Given the description of an element on the screen output the (x, y) to click on. 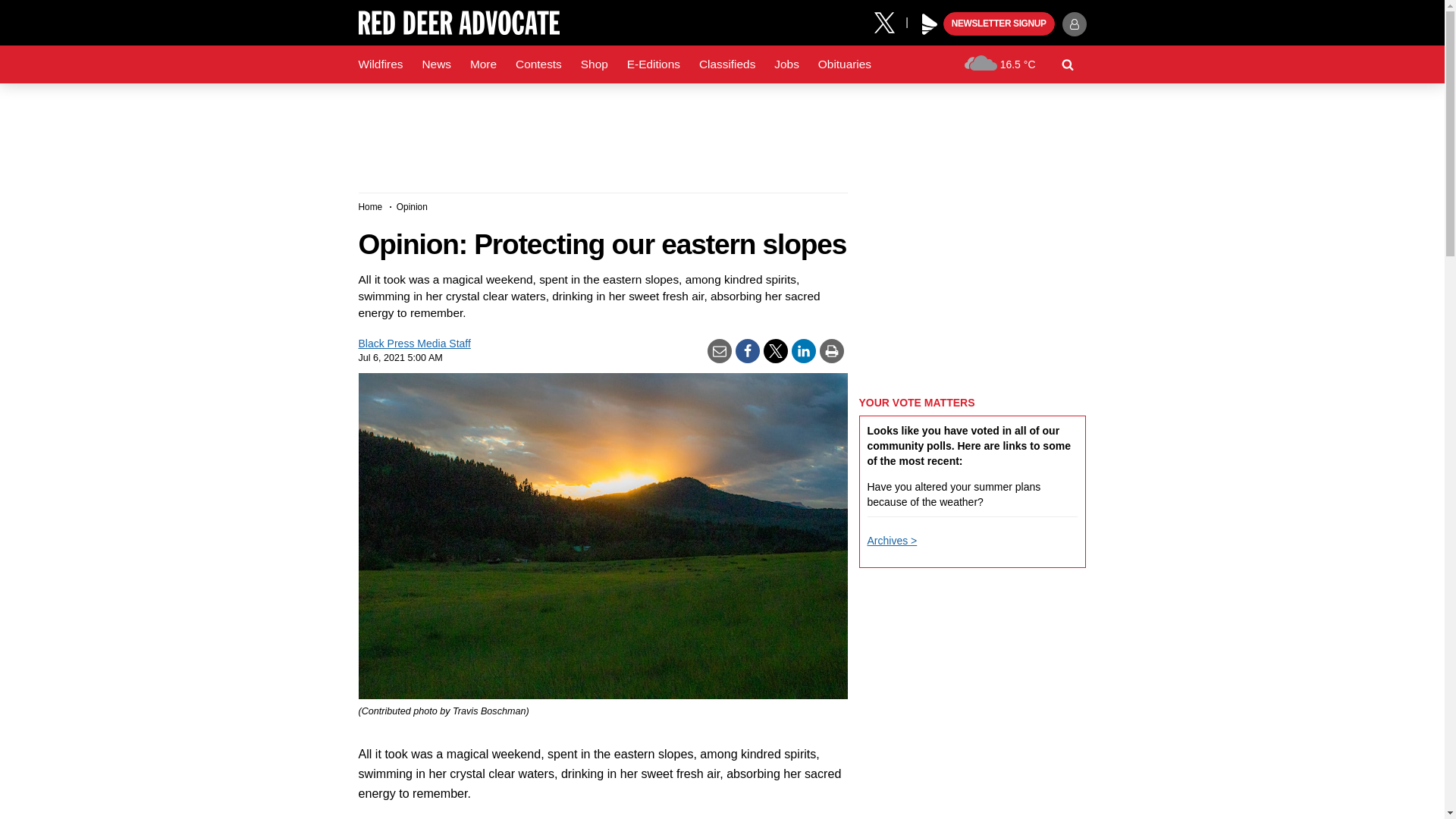
Play (929, 24)
News (435, 64)
X (889, 21)
Wildfires (380, 64)
Black Press Media (929, 24)
NEWSLETTER SIGNUP (998, 24)
